Given the description of an element on the screen output the (x, y) to click on. 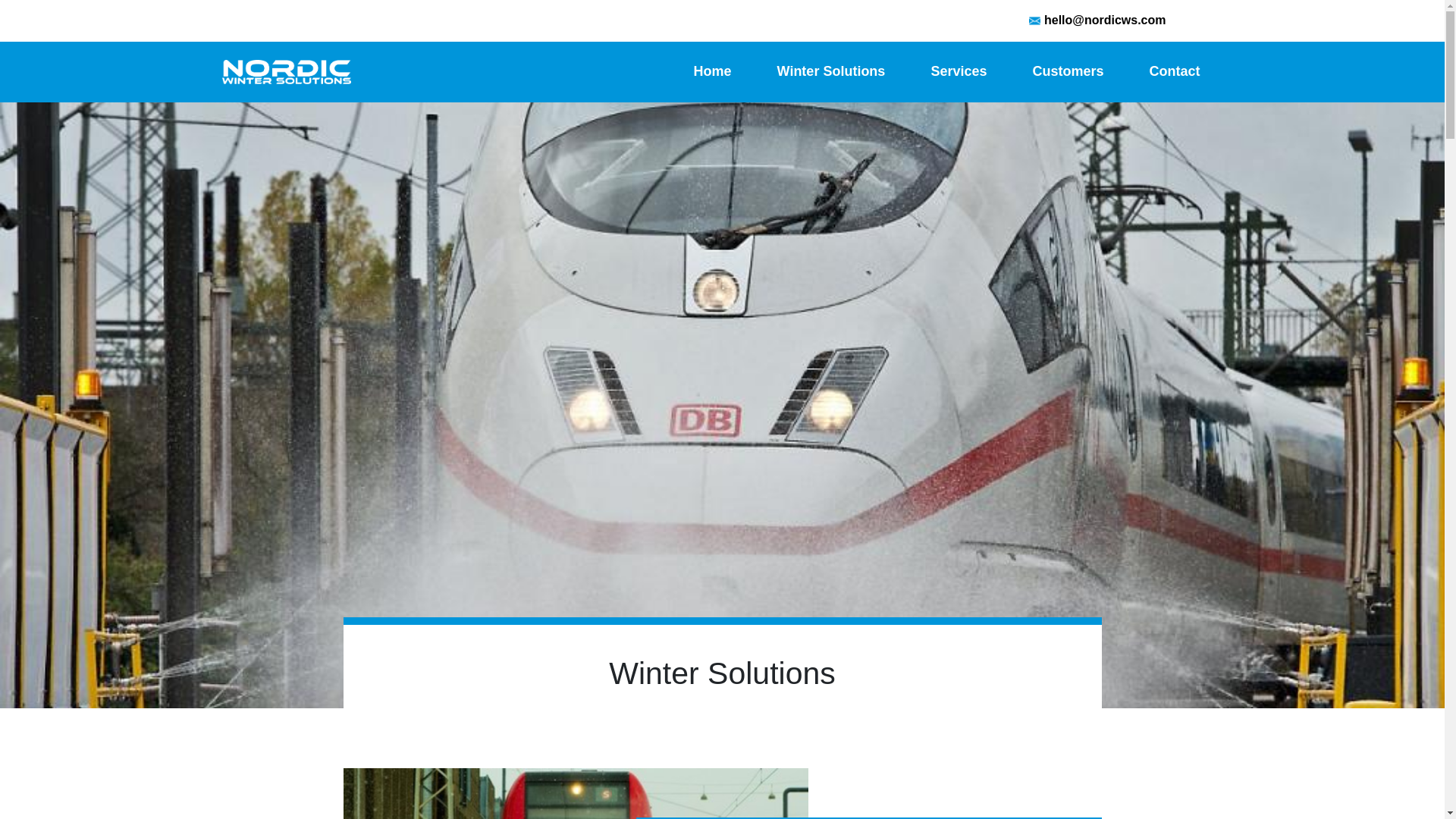
Winter Solutions (831, 70)
Customers (1067, 70)
Services (958, 70)
